Given the description of an element on the screen output the (x, y) to click on. 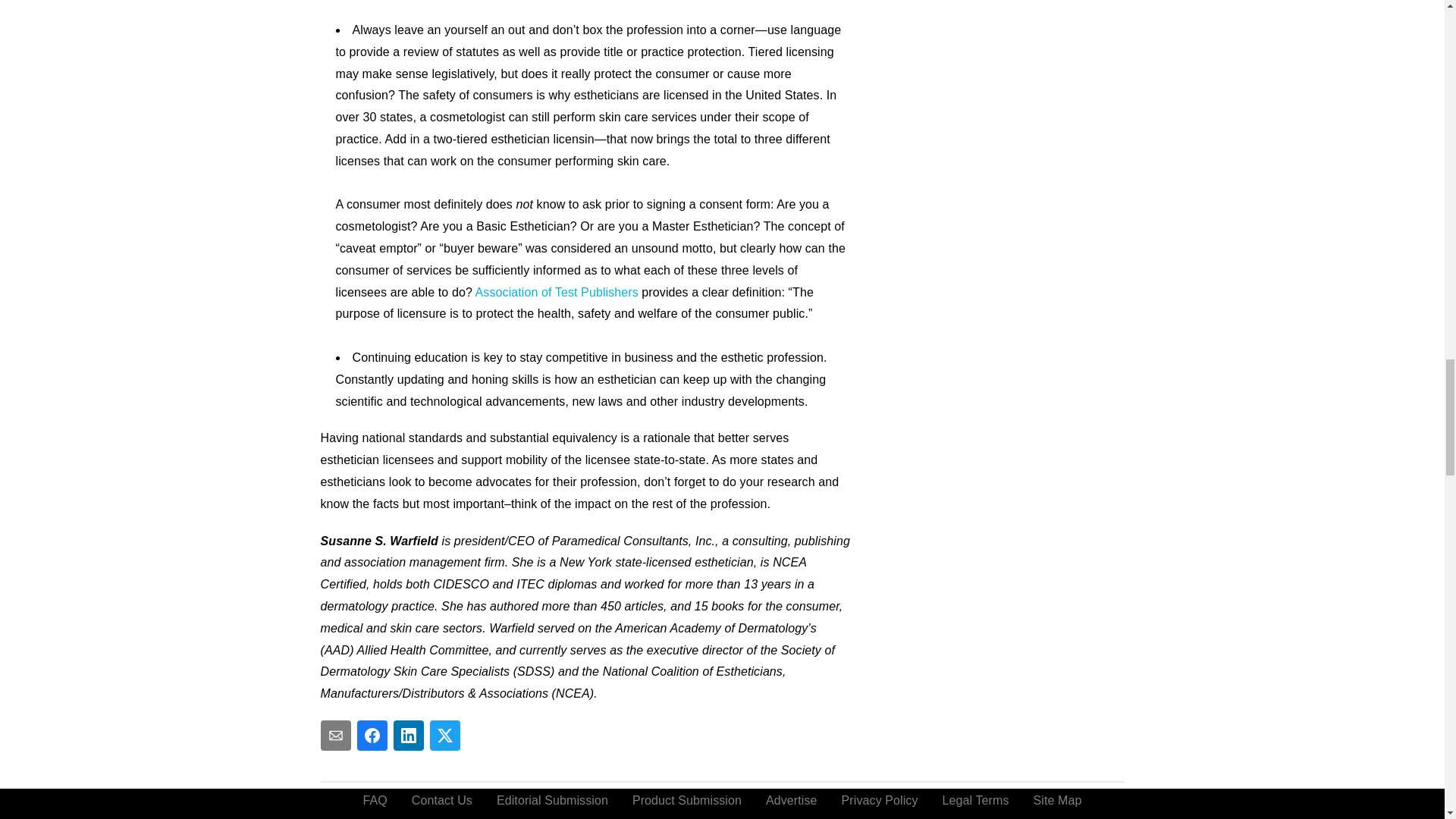
Share To facebook (371, 735)
Share To email (335, 735)
Share To linkedin (408, 735)
Share To twitter (444, 735)
